Given the description of an element on the screen output the (x, y) to click on. 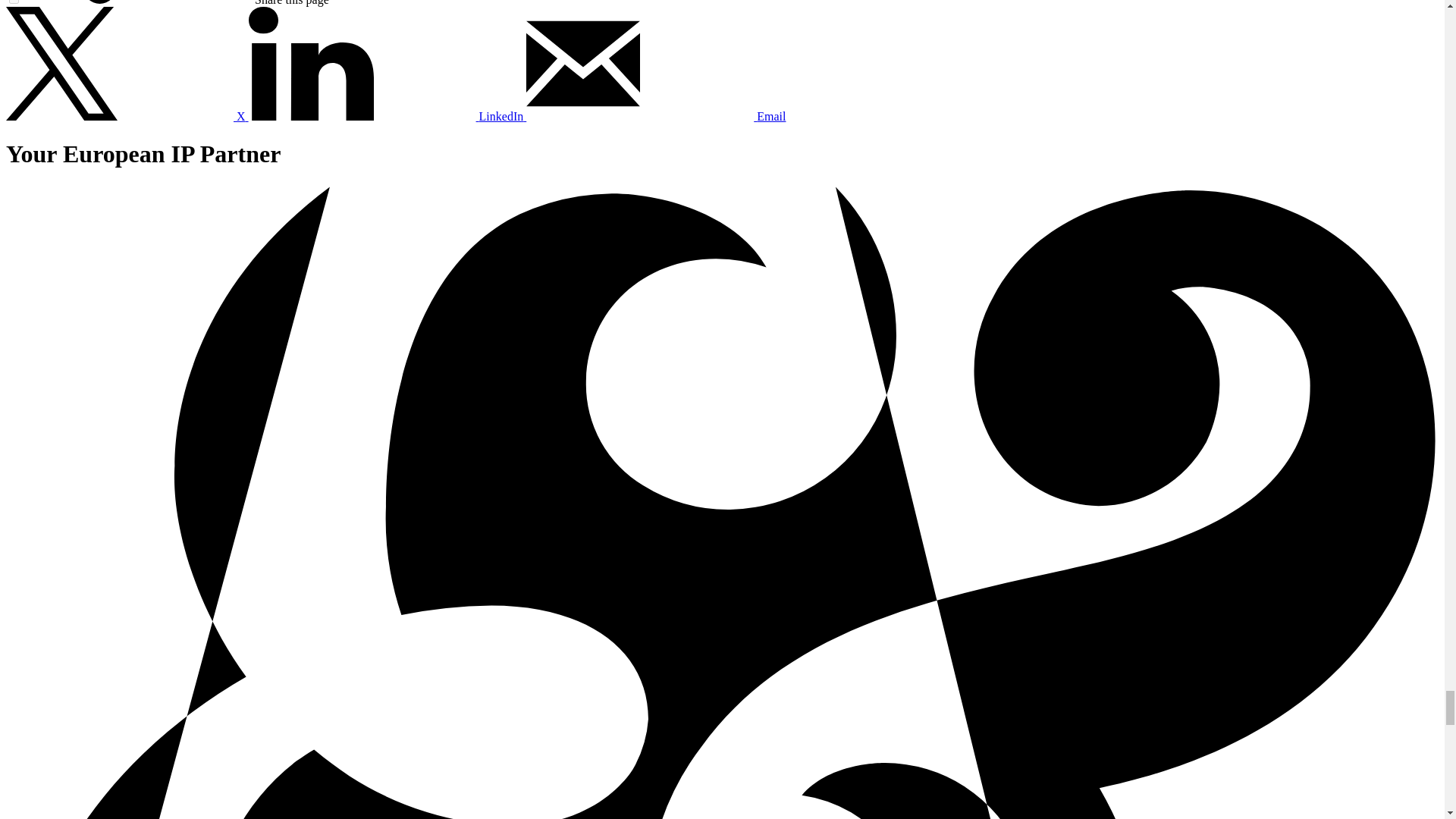
on (13, 2)
